Given the description of an element on the screen output the (x, y) to click on. 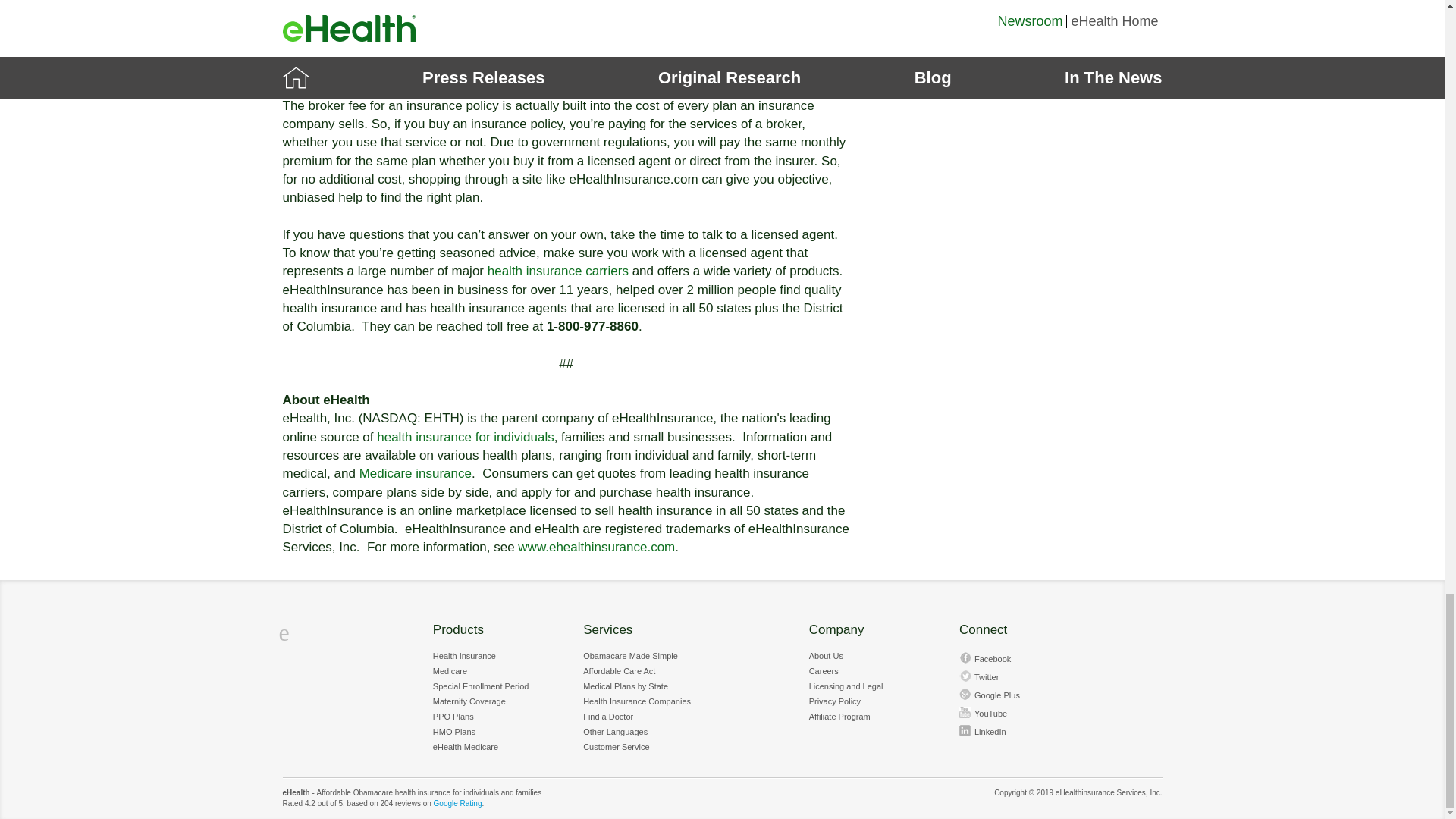
eHealth Medicare (464, 746)
Health Insurance (464, 655)
Special Enrollment Period (480, 685)
Obamacare Made Simple (630, 655)
health insurance carriers (557, 270)
PPO Plans (453, 716)
Maternity Coverage (468, 701)
health insurance for individuals (465, 436)
www.ehealthinsurance.com (596, 546)
HMO Plans (454, 731)
Affordable Care Act (619, 670)
Medicare (449, 670)
Medicare insurance (415, 473)
